Given the description of an element on the screen output the (x, y) to click on. 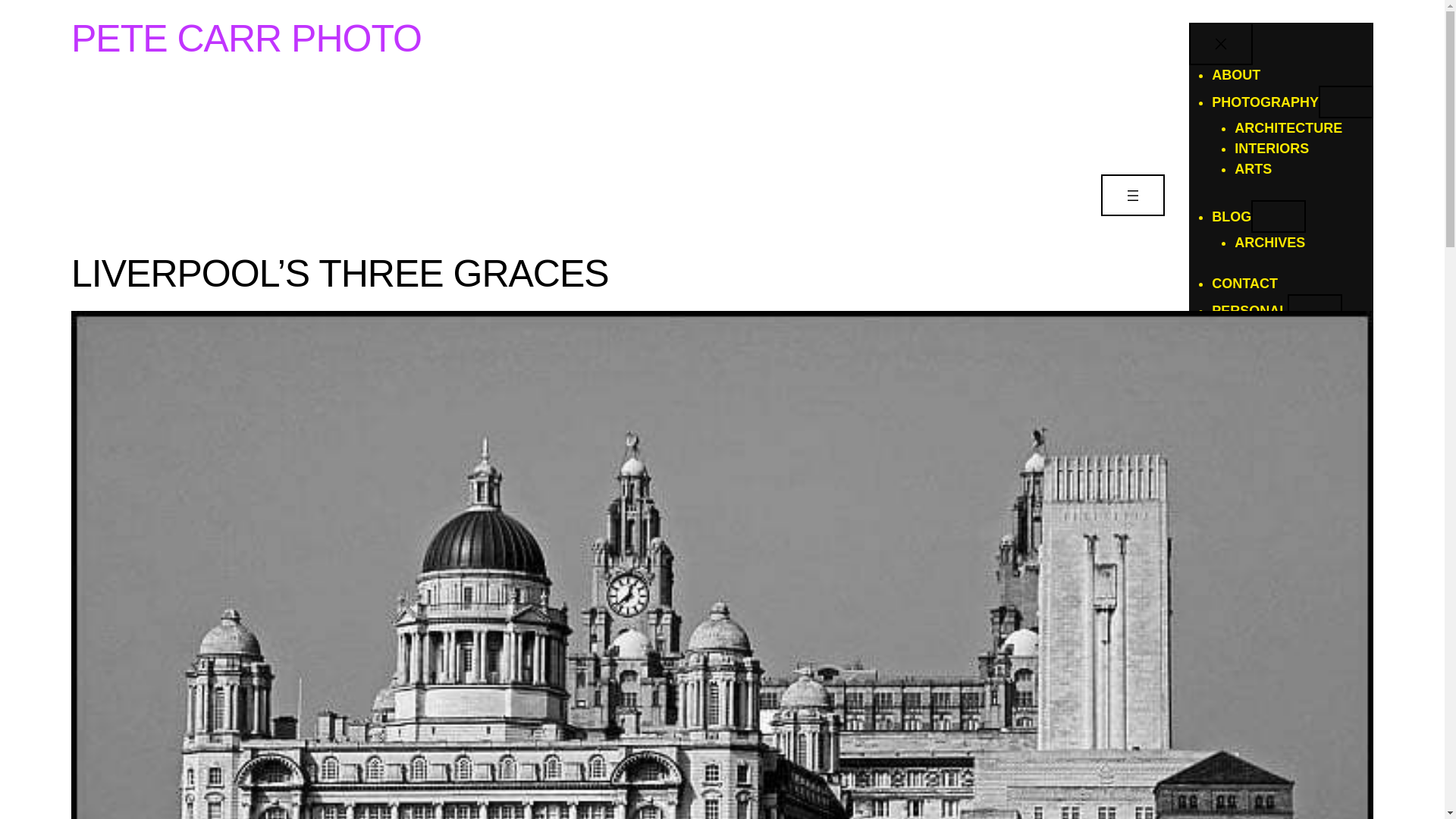
BLOG (1230, 216)
INTERIORS (1271, 148)
CONTACT (1244, 283)
ARTS (1252, 168)
ABOUT (1235, 74)
PHOTOGRAPHY (1265, 102)
PETE CARR PHOTO (246, 38)
ARCHITECTURE (1288, 127)
PERSONAL (1249, 310)
ARCHIVES (1269, 242)
COSPLAYERS (1280, 336)
